Given the description of an element on the screen output the (x, y) to click on. 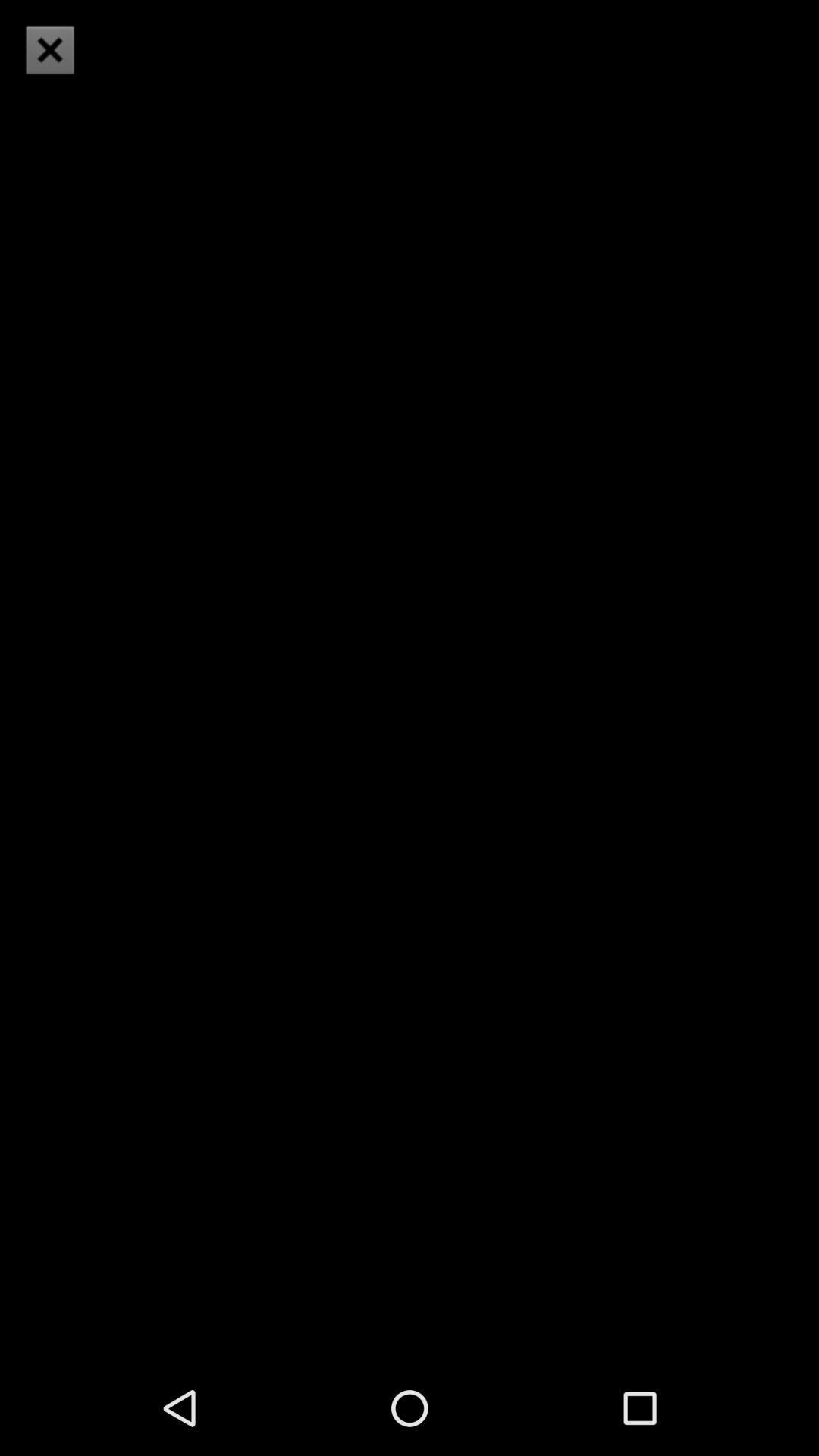
tap the icon at the center (409, 680)
